Given the description of an element on the screen output the (x, y) to click on. 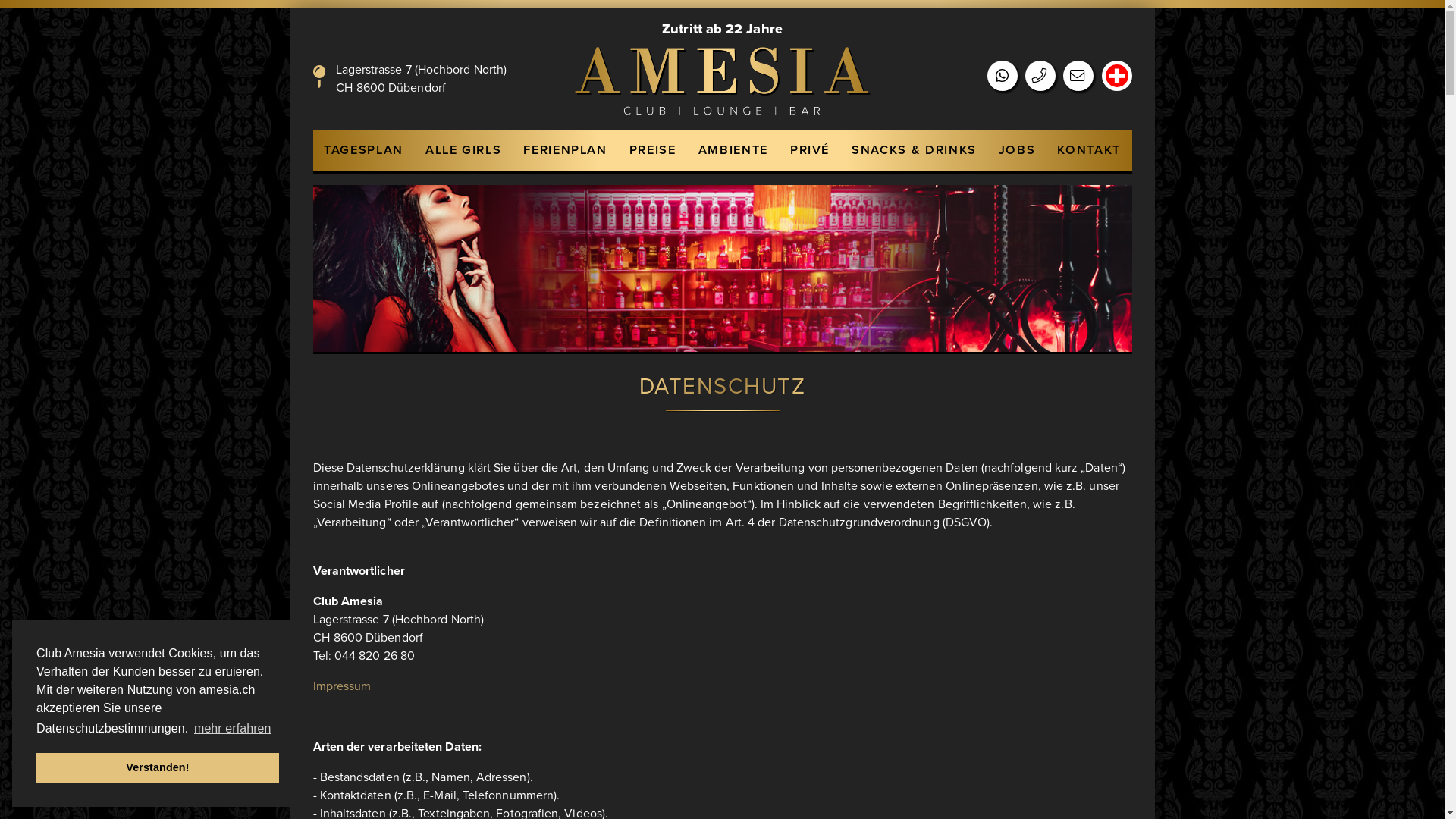
KONTAKT Element type: text (1089, 150)
Direkt zum Inhalt Element type: text (0, 0)
AMBIENTE Element type: text (732, 150)
Schreib uns via Whatsapp Element type: hover (1001, 76)
mehr erfahren Element type: text (232, 728)
ALLE GIRLS Element type: text (462, 150)
SNACKS & DRINKS Element type: text (914, 150)
PREISE Element type: text (652, 150)
JOBS Element type: text (1016, 150)
Impressum Element type: text (341, 685)
Ruf uns an Element type: hover (1039, 76)
Schreib uns eine E-Mail Element type: hover (1077, 76)
Verstanden! Element type: text (157, 767)
TAGESPLAN Element type: text (363, 150)
FERIENPLAN Element type: text (565, 150)
